Given the description of an element on the screen output the (x, y) to click on. 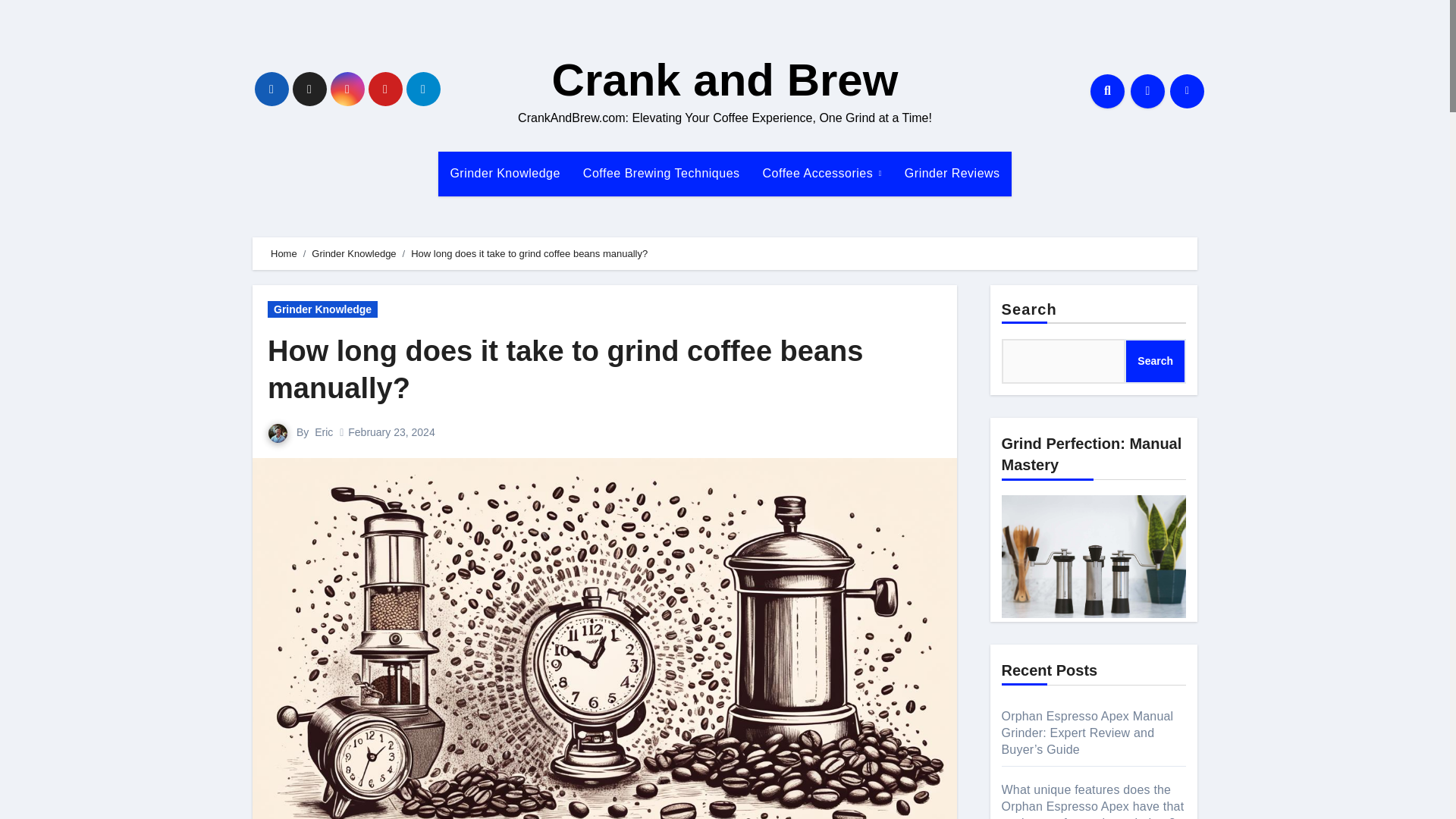
Crank and Brew (724, 79)
Coffee Brewing Techniques (661, 173)
Grinder Knowledge (353, 253)
Eric (323, 431)
Grinder Knowledge (504, 173)
Home (283, 253)
Coffee Accessories (822, 173)
Grinder Reviews (952, 173)
Grinder Reviews (952, 173)
